Given the description of an element on the screen output the (x, y) to click on. 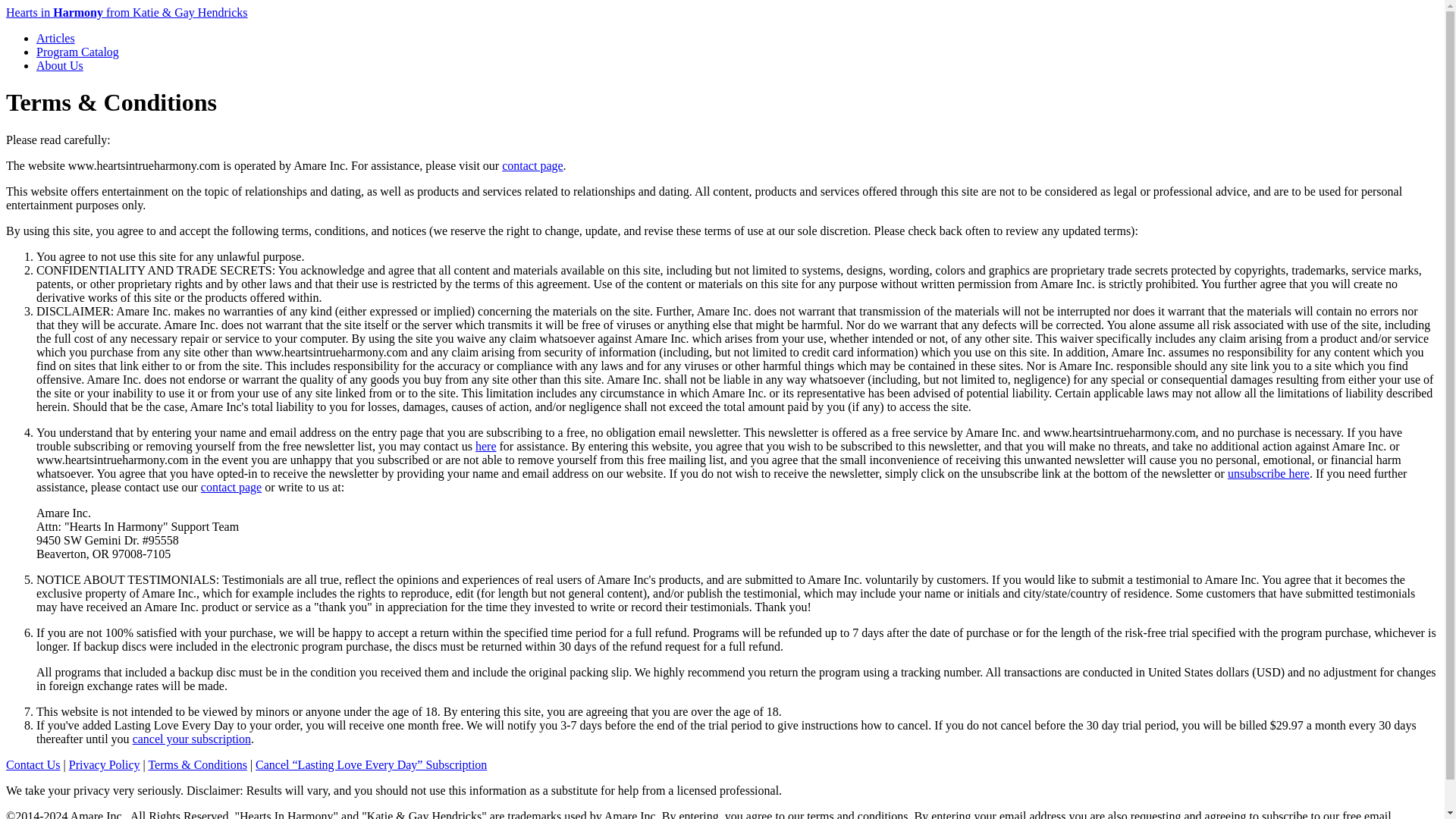
Hearts In Harmony Home Page (126, 11)
here (486, 445)
About Us (59, 65)
Contact Us (33, 764)
contact page (532, 164)
contact page (231, 486)
Articles (55, 38)
cancel your subscription (191, 738)
Top Articles (55, 38)
Program Catalog (77, 51)
Program Catalog (77, 51)
unsubscribe here (1267, 472)
Privacy Policy (103, 764)
